Given the description of an element on the screen output the (x, y) to click on. 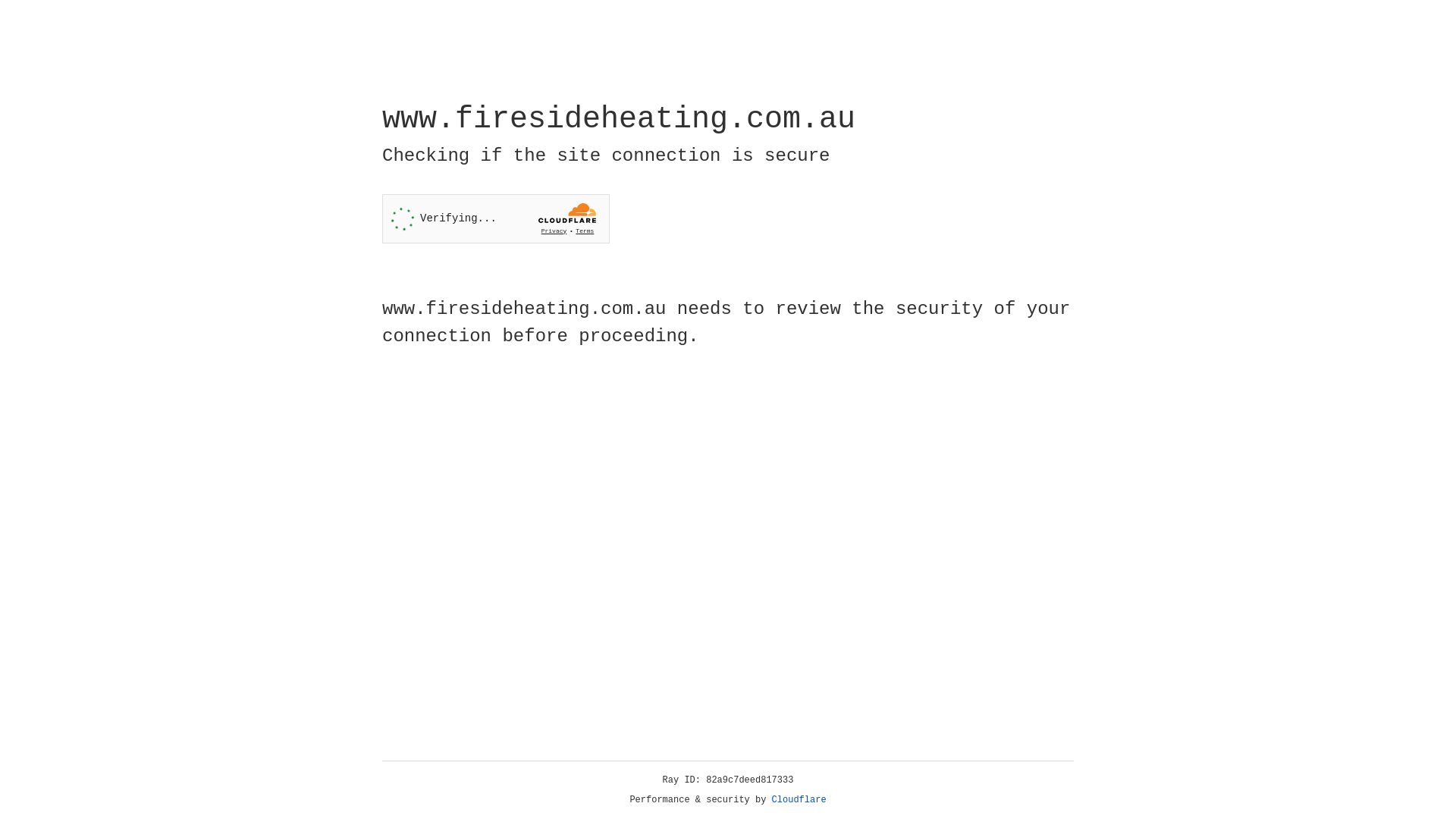
Cloudflare Element type: text (798, 799)
Widget containing a Cloudflare security challenge Element type: hover (495, 218)
